Given the description of an element on the screen output the (x, y) to click on. 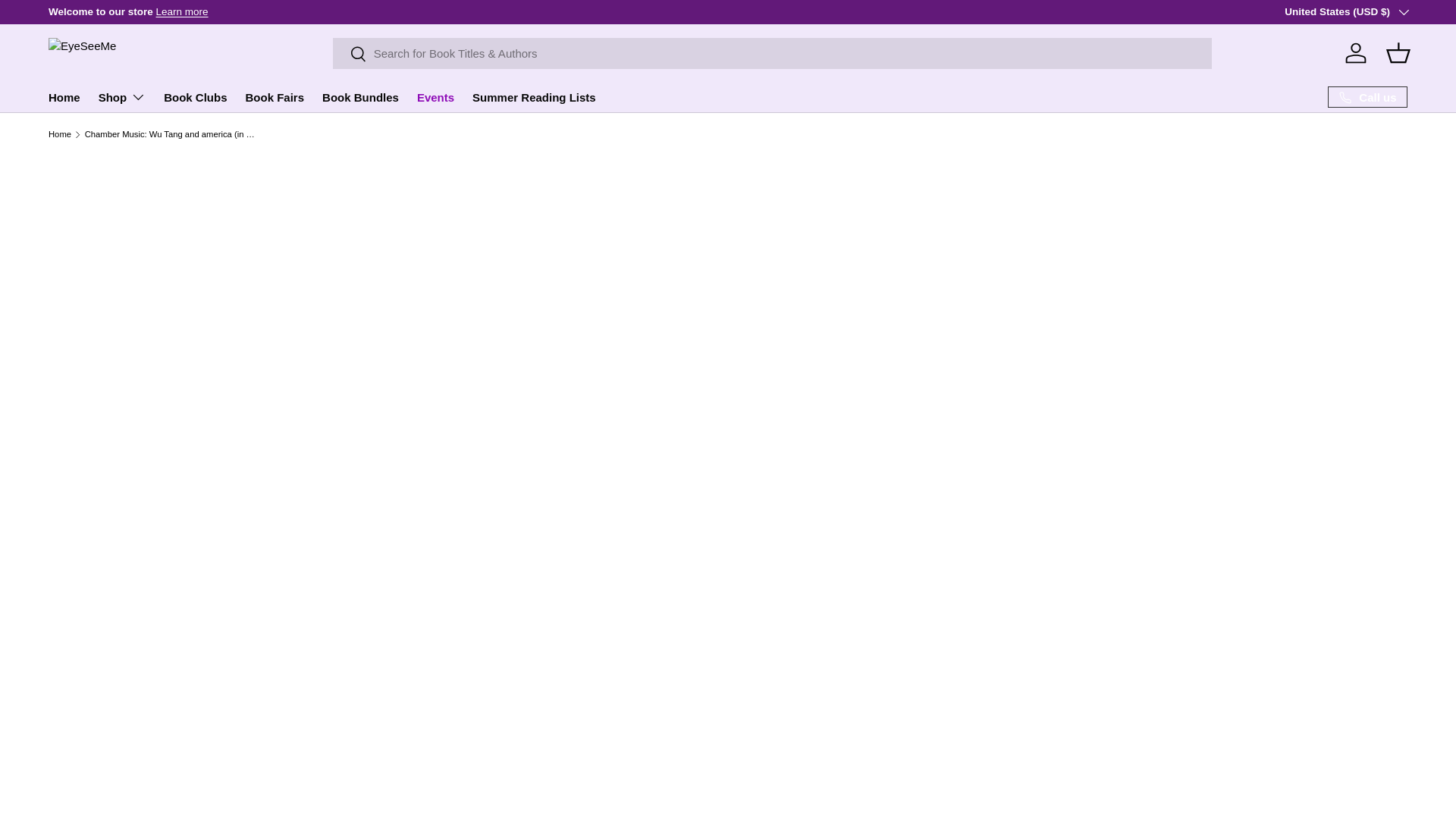
Basket (1398, 52)
SKIP TO CONTENT (68, 21)
Book Fairs (275, 97)
Book Clubs (195, 97)
Summer Reading Lists (533, 97)
Home (64, 97)
Shop (123, 96)
Log in (1356, 52)
Search (349, 54)
Learn more (181, 11)
